Given the description of an element on the screen output the (x, y) to click on. 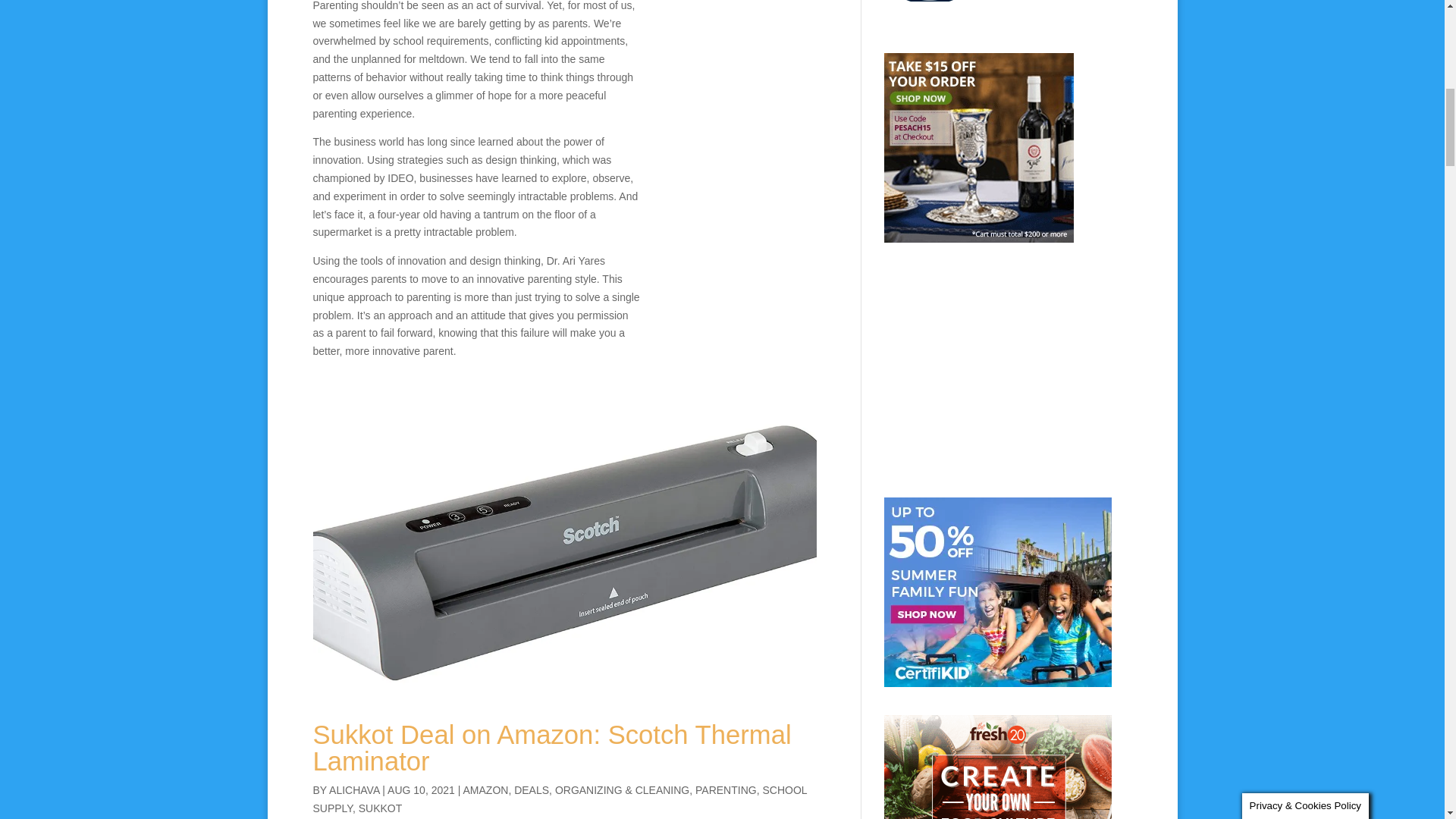
Posts by alichava (353, 789)
